Given the description of an element on the screen output the (x, y) to click on. 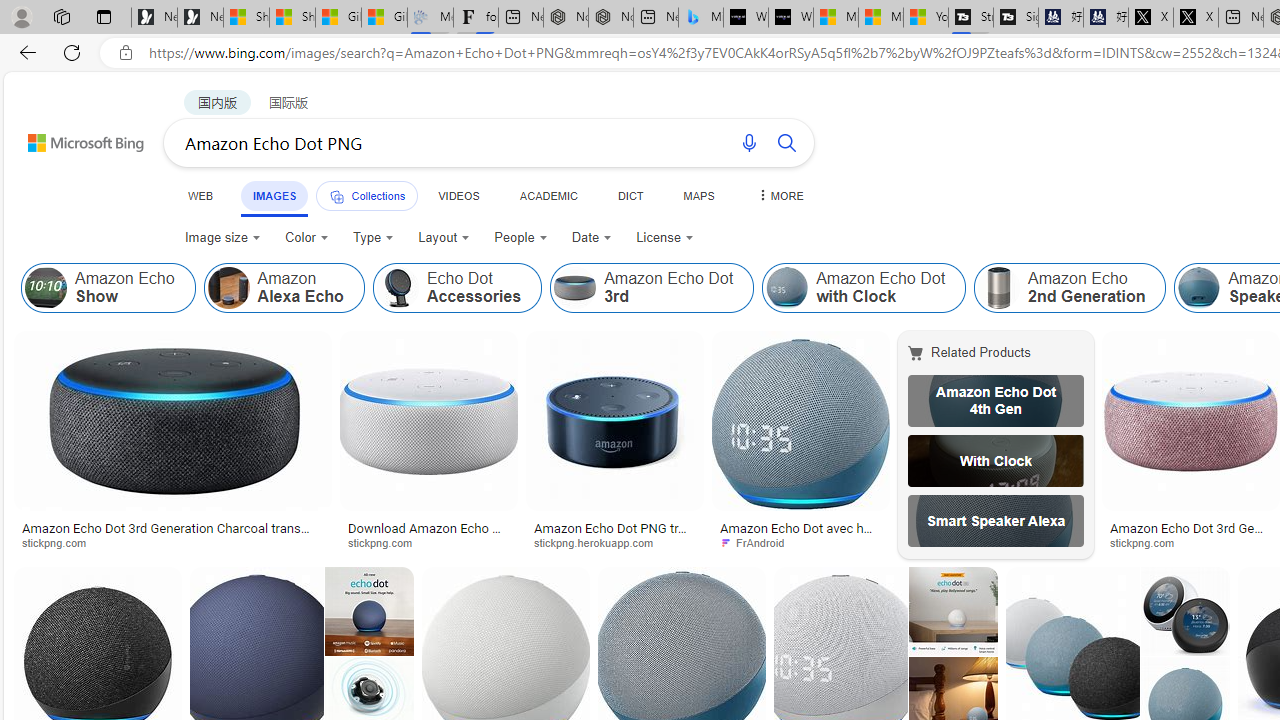
Class: item col (1070, 287)
VIDEOS (458, 195)
Date (591, 237)
Image result for Amazon Echo Dot PNG (1191, 421)
Streaming Coverage | T3 (970, 17)
Amazon Echo Show (45, 287)
DICT (630, 195)
Amazon Echo Dot with Clock (864, 287)
stickpng.herokuapp.com (600, 541)
VIDEOS (458, 195)
